Given the description of an element on the screen output the (x, y) to click on. 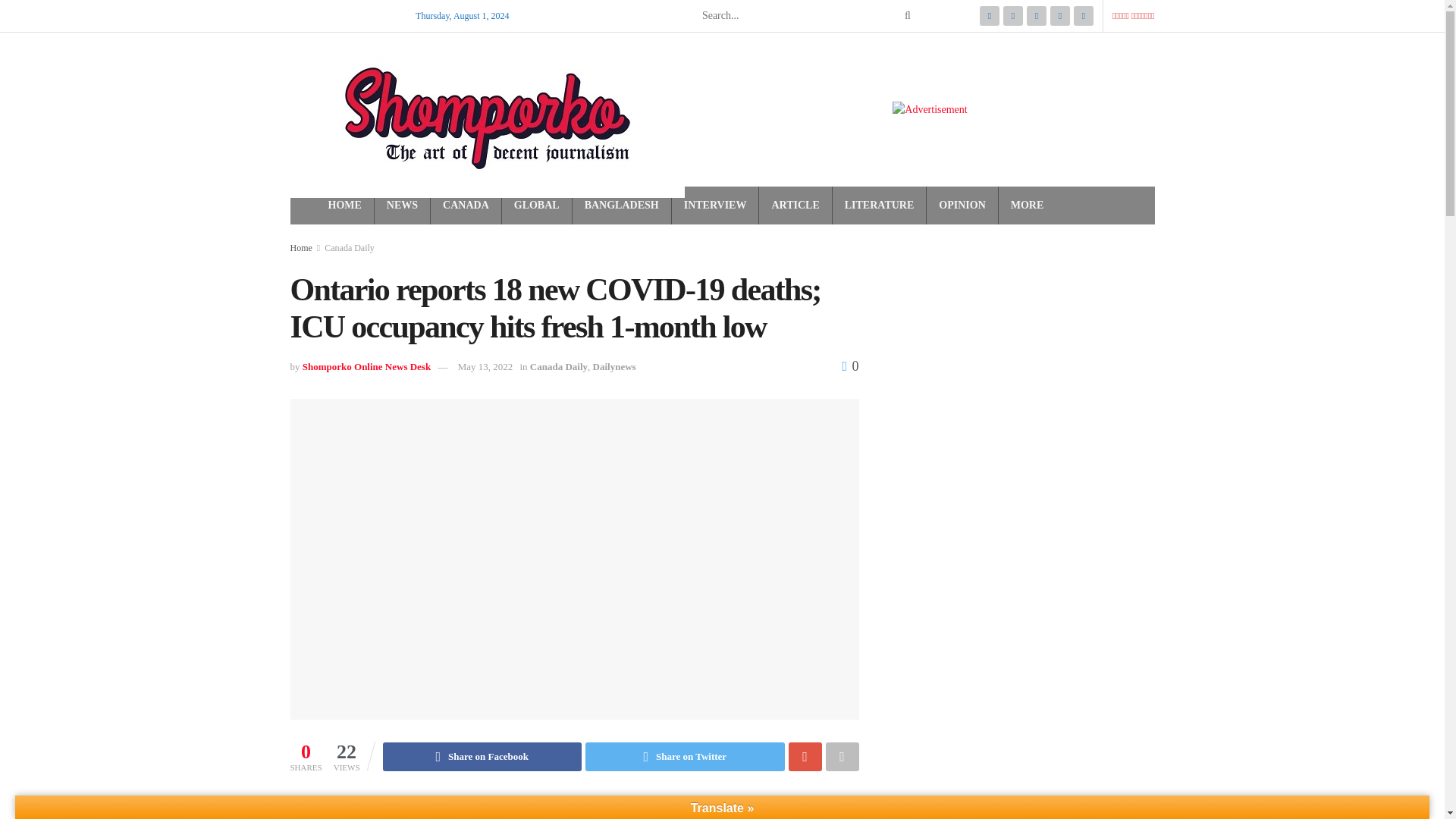
OPINION (962, 205)
MORE (1026, 205)
NEWS (402, 205)
HOME (344, 205)
BANGLADESH (622, 205)
ARTICLE (794, 205)
CANADA (465, 205)
GLOBAL (536, 205)
INTERVIEW (715, 205)
LITERATURE (879, 205)
